Given the description of an element on the screen output the (x, y) to click on. 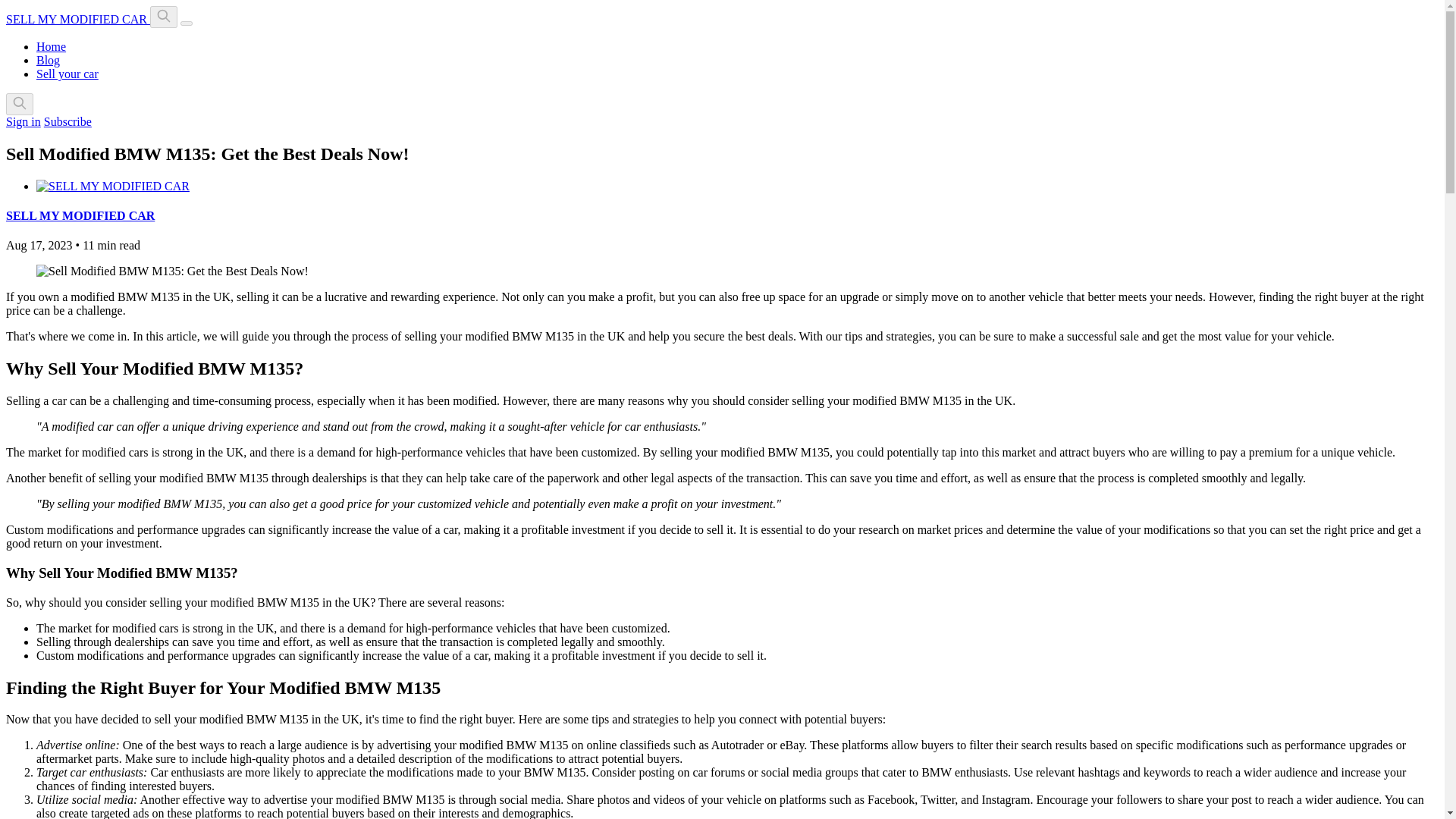
Home (50, 46)
Sell your car (67, 73)
Subscribe (67, 121)
SELL MY MODIFIED CAR (79, 215)
SELL MY MODIFIED CAR (77, 19)
Blog (47, 60)
Sign in (22, 121)
